Given the description of an element on the screen output the (x, y) to click on. 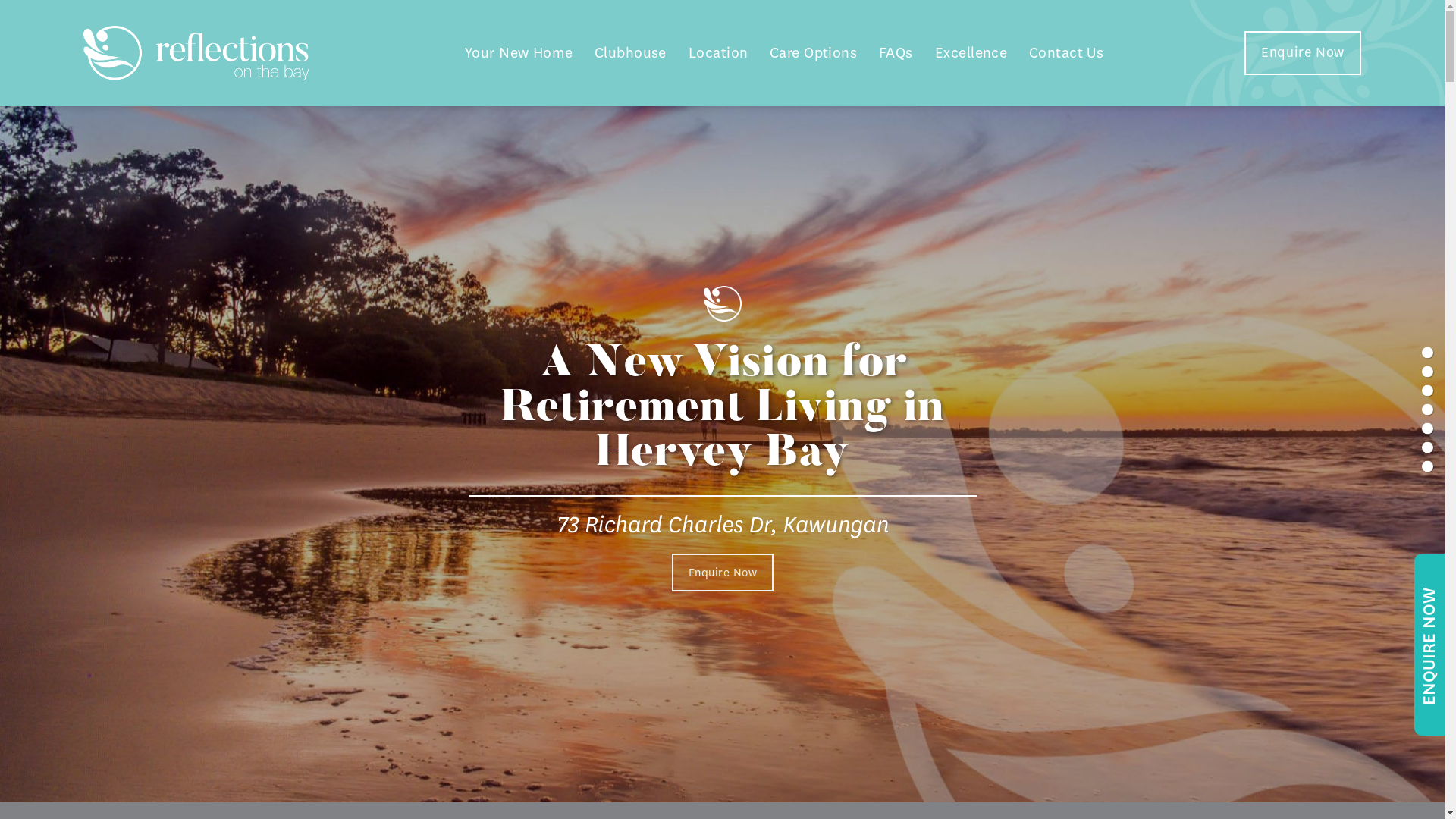
Enquire Now Element type: text (722, 571)
Skip to content Element type: text (0, 0)
Care Options Element type: text (812, 52)
FAQs Element type: text (895, 52)
Contact Us Element type: text (1066, 52)
Clubhouse Element type: text (630, 52)
Enquire Now Element type: text (1302, 53)
Your New Home Element type: text (518, 52)
Excellence Element type: text (971, 52)
Location Element type: text (717, 52)
